Given the description of an element on the screen output the (x, y) to click on. 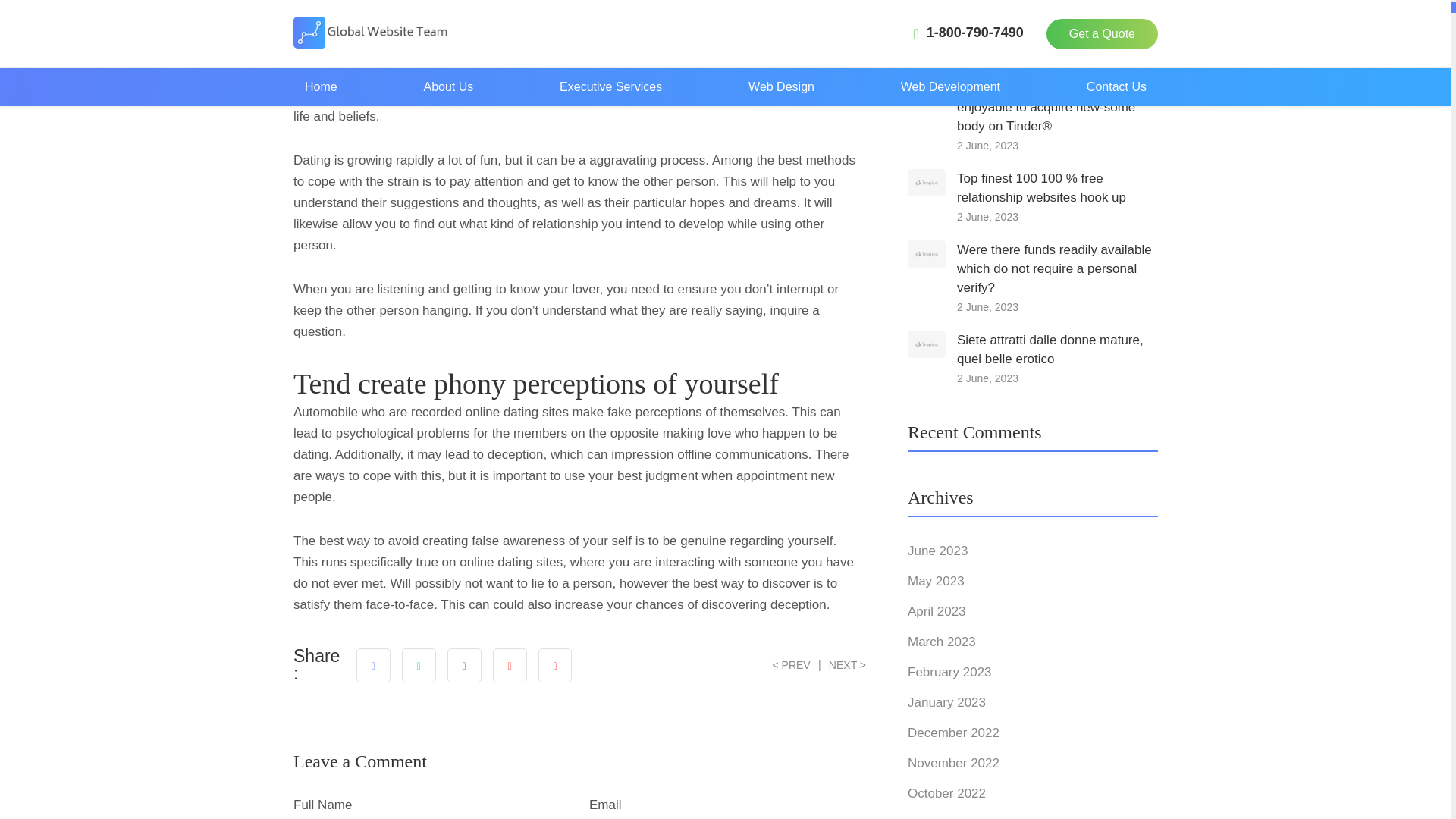
Share on Facebook. (373, 664)
You have a heightened risk of the loan being qualified (1052, 26)
Tweet this! (418, 664)
Share on LinkedIn (463, 664)
